Given the description of an element on the screen output the (x, y) to click on. 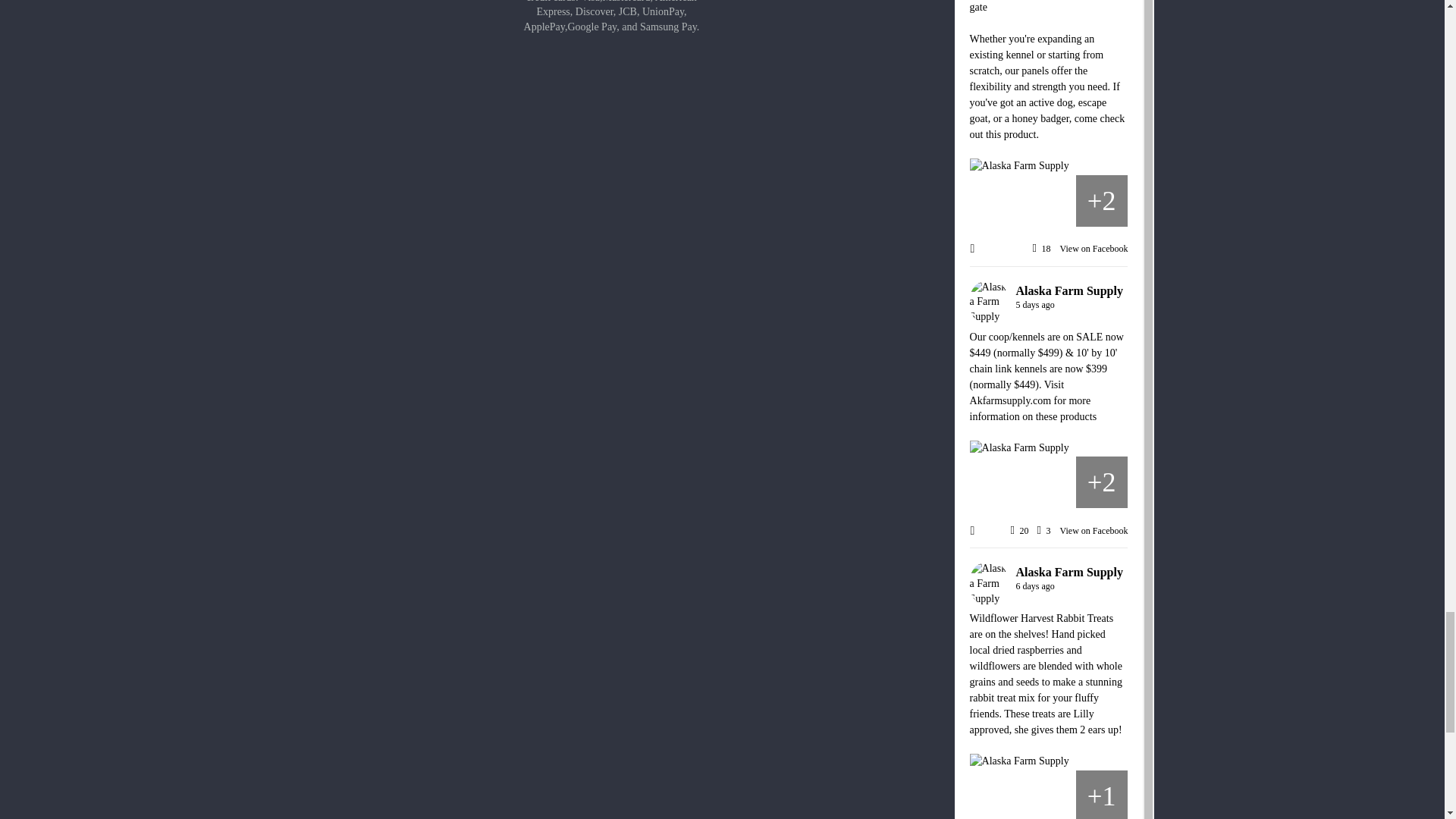
Picture from Facebook (995, 200)
Picture from Facebook (1048, 481)
Picture from Facebook (1100, 481)
Social Share Options (975, 249)
Picture from Facebook (1100, 200)
Social Share Options (975, 531)
Picture from Facebook (995, 481)
Picture from Facebook (1048, 200)
